Given the description of an element on the screen output the (x, y) to click on. 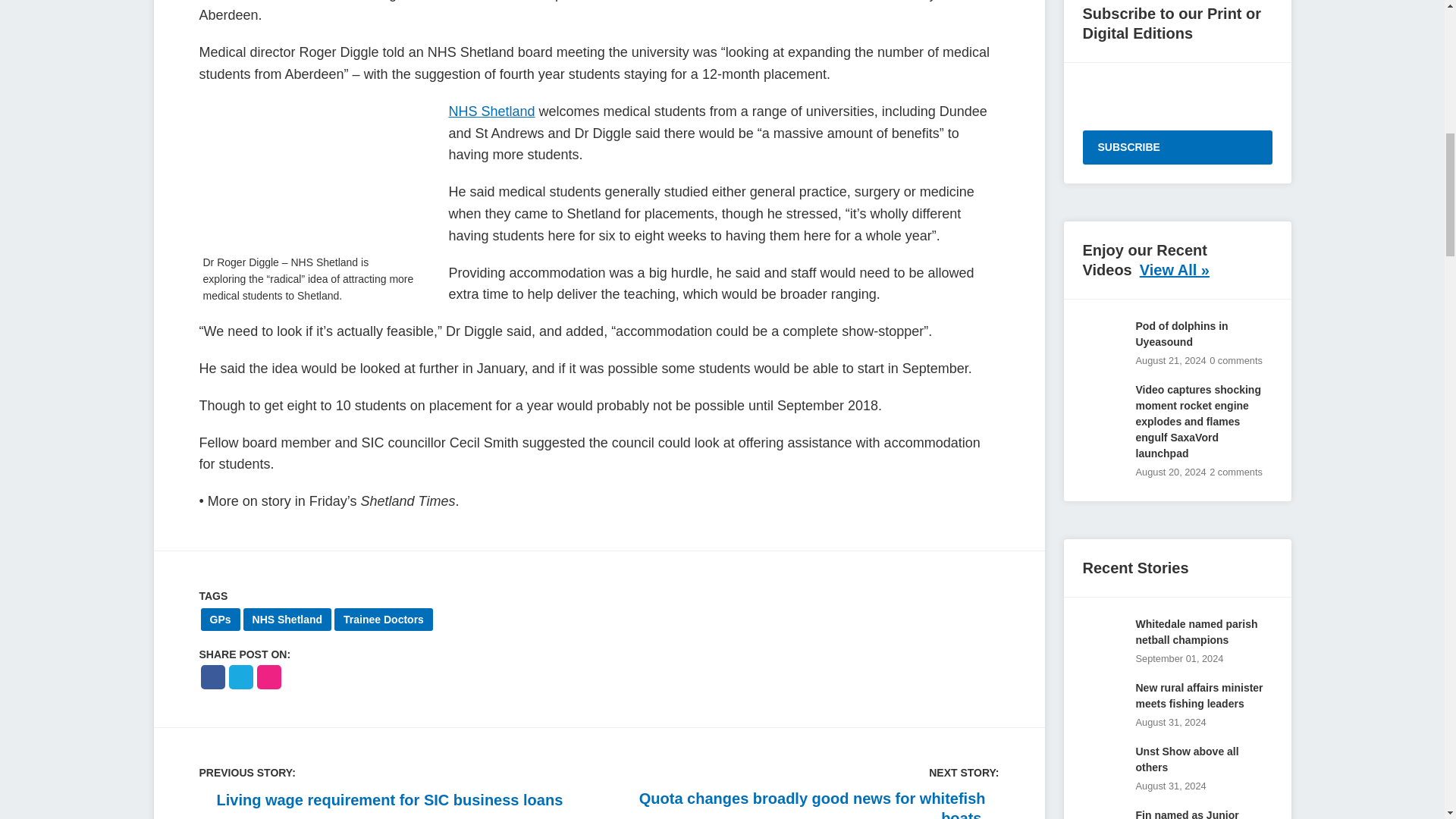
Quota changes broadly good news for whitefish boats (806, 803)
GPs (220, 619)
Trainee Doctors (383, 619)
NHS Shetland (491, 111)
NHS Shetland (287, 619)
Living wage requirement for SIC business loans (380, 799)
